Given the description of an element on the screen output the (x, y) to click on. 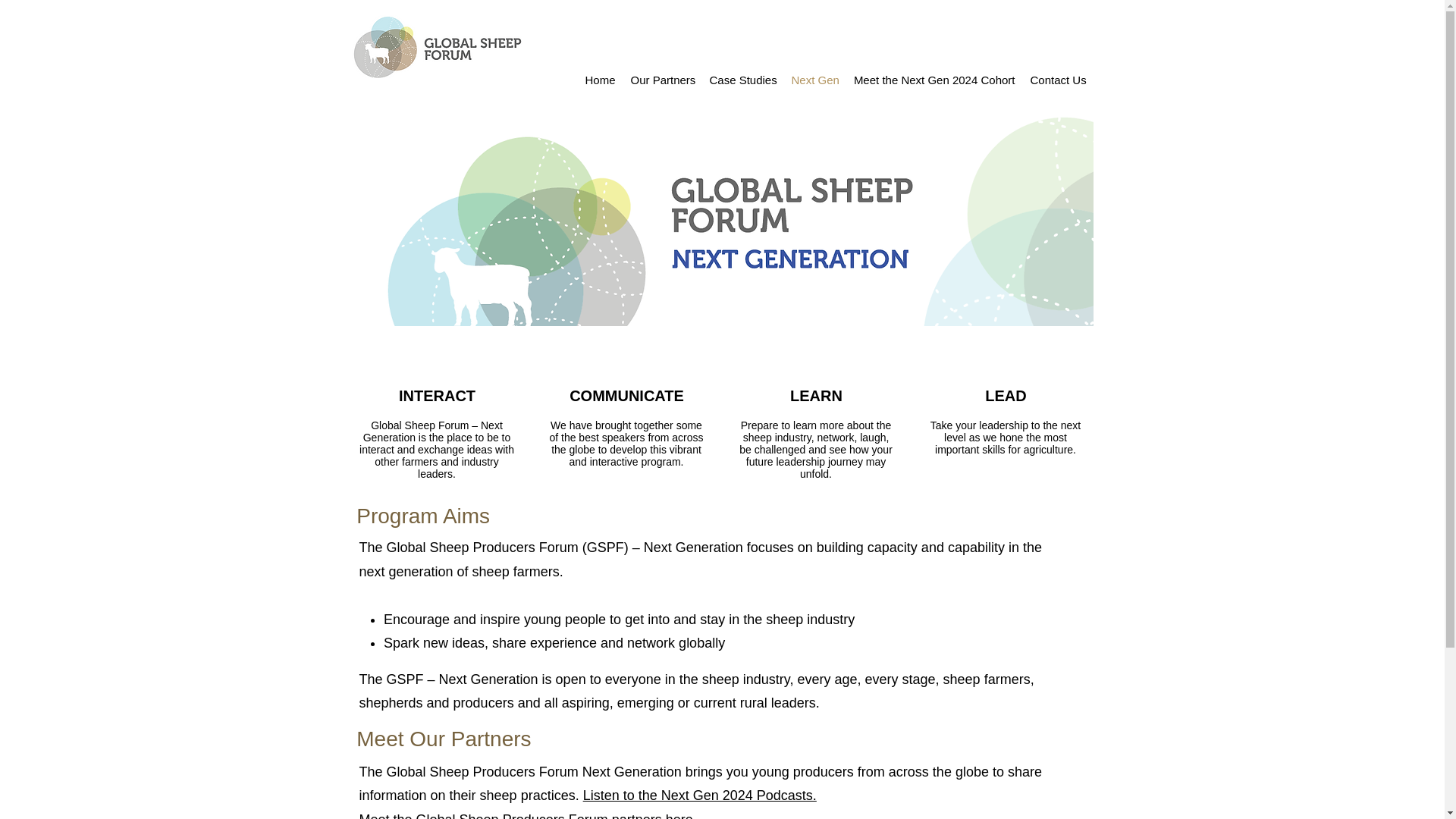
Meet the Next Gen 2024 Cohort (934, 80)
Home (600, 80)
Our Partners (662, 80)
Global Sheep Producers Forum partners here (554, 815)
Next Gen (814, 80)
Listen to the Next Gen 2024 Podcasts. (699, 795)
Case Studies (742, 80)
Contact Us (1057, 80)
